Given the description of an element on the screen output the (x, y) to click on. 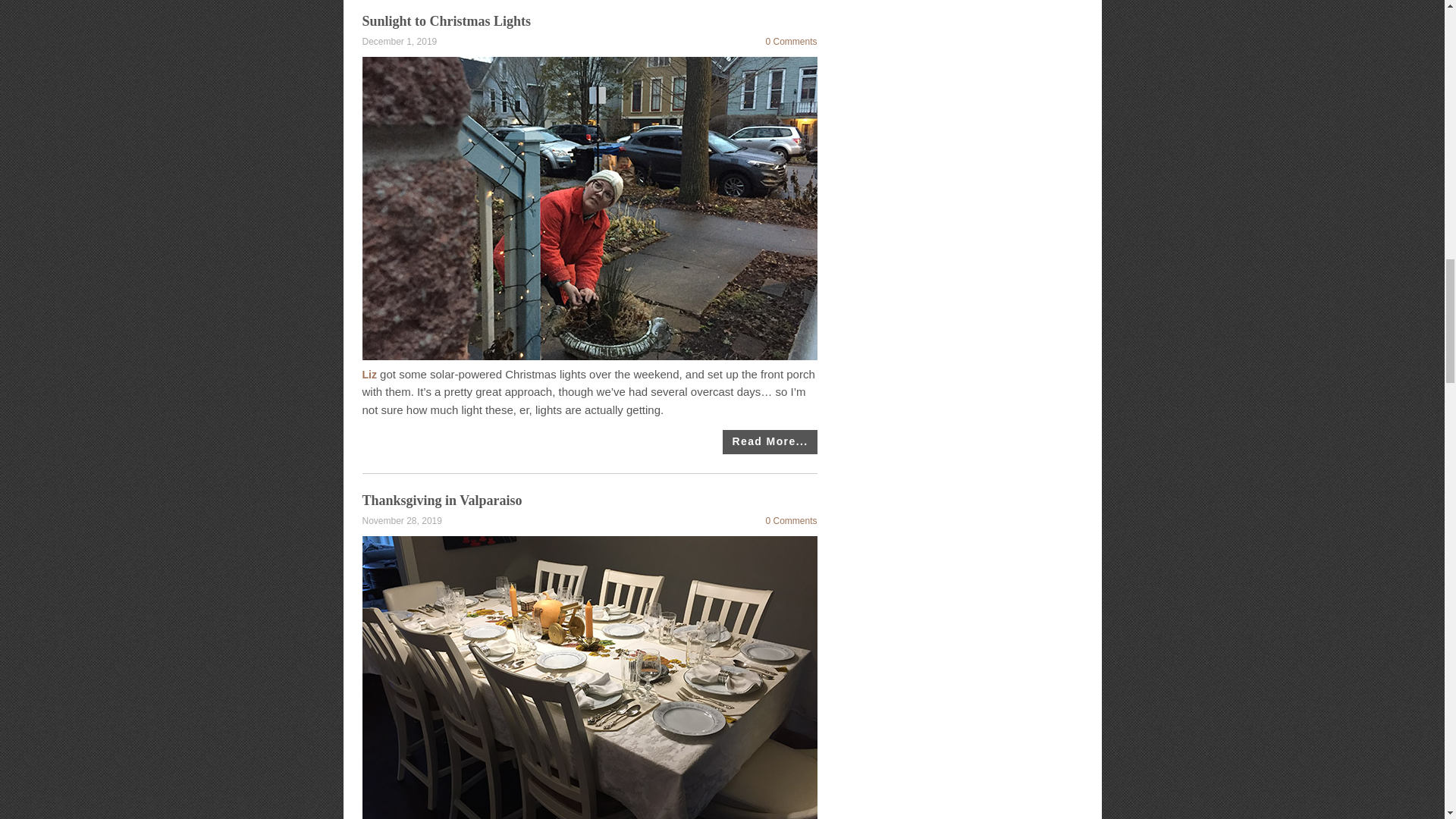
Sunlight to Christmas Lights (446, 20)
Sunlight to Christmas Lights (769, 441)
Thanksgiving in Valparaiso (442, 500)
